Given the description of an element on the screen output the (x, y) to click on. 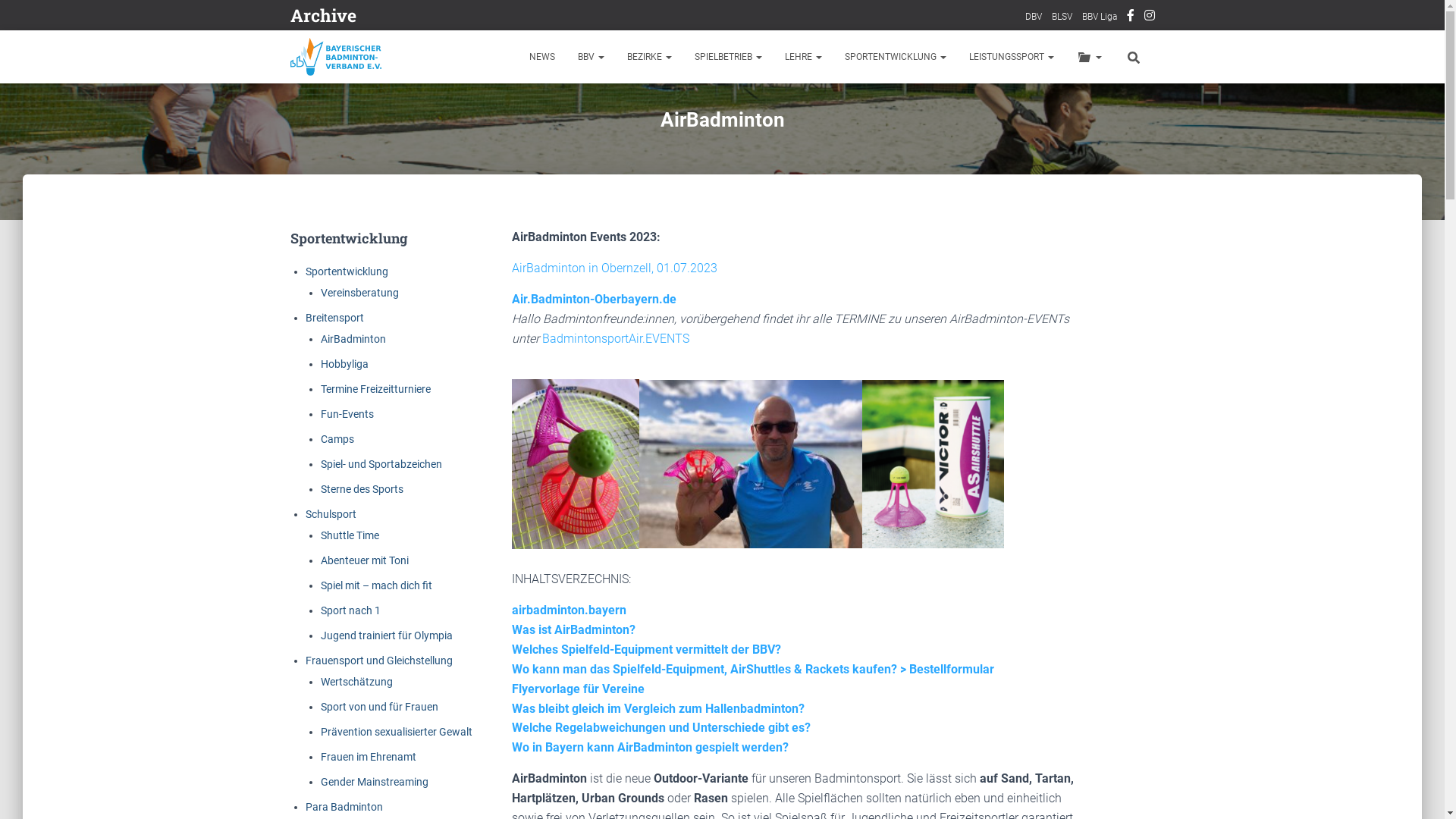
Februar 2018 Element type: text (489, 382)
April 2015 Element type: text (377, 564)
November 2019 Element type: text (342, 291)
Februar 2015 Element type: text (489, 564)
Januar 2019 Element type: text (551, 321)
November 2015 Element type: text (342, 534)
Wo in Bayern kann AirBadminton gespielt werden? Element type: text (649, 747)
Juli 2019 Element type: text (608, 291)
April 2022 Element type: text (377, 139)
Juni 2014 Element type: text (659, 594)
LEISTUNGSSPORT Element type: text (1010, 56)
Juni 2019 Element type: text (659, 291)
Juni 2010 Element type: text (659, 776)
Juli 2016 Element type: text (608, 473)
Februar 2014 Element type: text (489, 625)
Dezember 2011 Element type: text (341, 716)
Mai 2021 Element type: text (328, 200)
Januar 2011 Element type: text (603, 746)
Spiel- und Sportabzeichen Element type: text (380, 464)
Welches Spielfeld-Equipment vermittelt der BBV? Element type: text (646, 649)
Juli 2017 Element type: text (608, 412)
Juli 2021 Element type: text (608, 170)
Juni 2021 Element type: text (659, 170)
Gender Mainstreaming Element type: text (373, 781)
August 2016 Element type: text (553, 473)
August 2013 Element type: text (553, 655)
Mai 2018 Element type: text (328, 382)
Januar 2022 Element type: text (551, 139)
November 2020 Element type: text (342, 230)
Dezember 2010 Element type: text (672, 746)
Dezember 2013 Element type: text (620, 625)
NEWS Element type: text (541, 56)
BBV Liga Element type: text (1098, 16)
Oktober 2017 Element type: text (412, 412)
Facebook Element type: text (1130, 17)
DBV Element type: text (1033, 16)
April 2017 Element type: text (377, 443)
Februar 2017 Element type: text (489, 443)
Dezember 2014 Element type: text (620, 564)
August 2015 Element type: text (553, 534)
Vereinsberatung Element type: text (359, 292)
August 2023 Element type: text (549, 48)
Oktober 2013 Element type: text (412, 655)
Februar 2013 Element type: text (489, 685)
Januar 2017 Element type: text (551, 443)
Was bleibt gleich im Vergleich zum Hallenbadminton? Element type: text (657, 707)
April 2021 Element type: text (377, 200)
Februar 2011 Element type: text (541, 746)
Mai 2015 Element type: text (328, 564)
Para Badminton Element type: text (343, 806)
Oktober 2022 Element type: text (412, 109)
Dezember 2015 Element type: text (620, 503)
Januar 2018 Element type: text (551, 382)
Februar 2021 Element type: text (489, 200)
November 2014 Element type: text (342, 594)
Juli 2013 Element type: text (608, 655)
Frauensport und Gleichstellung Element type: text (377, 660)
August 2022 Element type: text (553, 109)
November 2018 Element type: text (342, 352)
Oktober 2020 Element type: text (412, 230)
Air.Badminton-Oberbayern.de Element type: text (593, 298)
Dezember 2017 Element type: text (620, 382)
Mai 2023 Element type: text (328, 79)
Sport nach 1 Element type: text (349, 610)
August 2014 Element type: text (553, 594)
Oktober 2023 Element type: text (408, 48)
Termine Freizeitturniere Element type: text (374, 388)
Suche Element type: text (3, 16)
Juli 2022 Element type: text (608, 109)
Februar 2016 Element type: text (489, 503)
September 2020 Element type: text (483, 230)
Juni 2023 Element type: text (656, 48)
Januar 2012 Element type: text (614, 685)
Mai 2020 Element type: text (328, 261)
Januar 2015 Element type: text (551, 564)
BadmintonsportAir.EVENTS Element type: text (615, 337)
Dezember 2021 Element type: text (620, 139)
AirBadminton in Obernzell, 01.07.2023 Element type: text (614, 267)
September 2010 Element type: text (483, 776)
Mai 2014 Element type: text (328, 625)
November 2017 Element type: text (342, 412)
November 2021 Element type: text (342, 170)
Juli 2023 Element type: text (605, 48)
April 2019 Element type: text (377, 321)
April 2013 Element type: text (377, 685)
Mai 2016 Element type: text (328, 503)
April 2014 Element type: text (377, 625)
Mai 2010 Element type: text (328, 807)
Fun-Events Element type: text (346, 413)
Januar 2016 Element type: text (551, 503)
BEZIRKE Element type: text (649, 56)
Mai 2011 Element type: text (379, 746)
Dezember 2009 Element type: text (620, 807)
September 2014 Element type: text (483, 594)
Oktober 2010 Element type: text (412, 776)
November 2010 Element type: text (342, 776)
Februar 2022 Element type: text (489, 139)
September 2018 Element type: text (483, 352)
September 2015 Element type: text (483, 534)
LEHRE Element type: text (803, 56)
SPORTENTWICKLUNG Element type: text (894, 56)
April 2016 Element type: text (377, 503)
September 2017 Element type: text (483, 412)
Juni 2018 Element type: text (659, 352)
Juli 2015 Element type: text (608, 534)
Juli 2014 Element type: text (608, 594)
Dezember 2020 Element type: text (620, 200)
Oktober 2016 Element type: text (412, 473)
BLSV Element type: text (1061, 16)
April 2023 Element type: text (377, 79)
Was ist AirBadminton? Element type: text (573, 629)
Juli 2018 Element type: text (608, 352)
November 2022 Element type: text (342, 109)
Oktober 2011 Element type: text (486, 716)
November 2011 Element type: text (416, 716)
April 2011 Element type: text (428, 746)
Januar 2010 Element type: text (551, 807)
Juni 2022 Element type: text (659, 109)
Dezember 2019 Element type: text (620, 261)
Mai 2022 Element type: text (328, 139)
Welche Regelabweichungen und Unterschiede gibt es? Element type: text (660, 727)
Shuttle Time Element type: text (349, 535)
Februar 2023 Element type: text (489, 79)
Juli 2020 Element type: text (608, 230)
Oktober 2018 Element type: text (412, 352)
Sportentwicklung Element type: text (345, 271)
September 2022 Element type: text (483, 109)
Camps Element type: text (336, 439)
Juli 2011 Element type: text (683, 716)
Januar 2020 Element type: text (551, 261)
September 2013 Element type: text (483, 655)
Februar 2010 Element type: text (489, 807)
November 2016 Element type: text (342, 473)
Februar 2019 Element type: text (489, 321)
Abenteuer mit Toni Element type: text (363, 560)
Juni 2017 Element type: text (659, 412)
August 2011 Element type: text (628, 716)
September 2016 Element type: text (483, 473)
Mai 2013 Element type: text (328, 685)
Juni 2013 Element type: text (659, 655)
Januar 2021 Element type: text (551, 200)
September 2023 Element type: text (479, 48)
Oktober 2014 Element type: text (412, 594)
Sterne des Sports Element type: text (361, 489)
Oktober 2015 Element type: text (412, 534)
Januar 2014 Element type: text (551, 625)
Oktober 2019 Element type: text (412, 291)
August 2018 Element type: text (553, 352)
Juni 2015 Element type: text (659, 534)
August 2020 Element type: text (553, 230)
Dezember 2016 Element type: text (620, 443)
Breitensport Element type: text (333, 317)
Hobbyliga Element type: text (343, 363)
SPIELBETRIEB Element type: text (727, 56)
Frauen im Ehrenamt Element type: text (367, 756)
BBV Element type: text (590, 56)
airbadminton.bayern Element type: text (568, 609)
Mai 2019 Element type: text (328, 321)
Instagram Element type: text (1148, 17)
Oktober 2021 Element type: text (412, 170)
November 2023 Element type: text (337, 48)
September 2019 Element type: text (483, 291)
April 2020 Element type: text (377, 261)
Schulsport Element type: text (329, 514)
AirBadminton Element type: text (352, 338)
Januar 2013 Element type: text (551, 685)
Juni 2016 Element type: text (659, 473)
August 2019 Element type: text (553, 291)
Dezember 2018 Element type: text (620, 321)
November 2013 Element type: text (342, 655)
Juni 2011 Element type: text (330, 746)
April 2018 Element type: text (377, 382)
Dezember 2022 Element type: text (620, 79)
April 2010 Element type: text (377, 807)
August 2010 Element type: text (553, 776)
Mai 2017 Element type: text (328, 443)
September 2021 Element type: text (483, 170)
August 2017 Element type: text (553, 412)
September 2011 Element type: text (558, 716)
Juli 2010 Element type: text (608, 776)
Februar 2020 Element type: text (489, 261)
Juni 2020 Element type: text (659, 230)
August 2021 Element type: text (553, 170)
Januar 2023 Element type: text (551, 79)
